Given the description of an element on the screen output the (x, y) to click on. 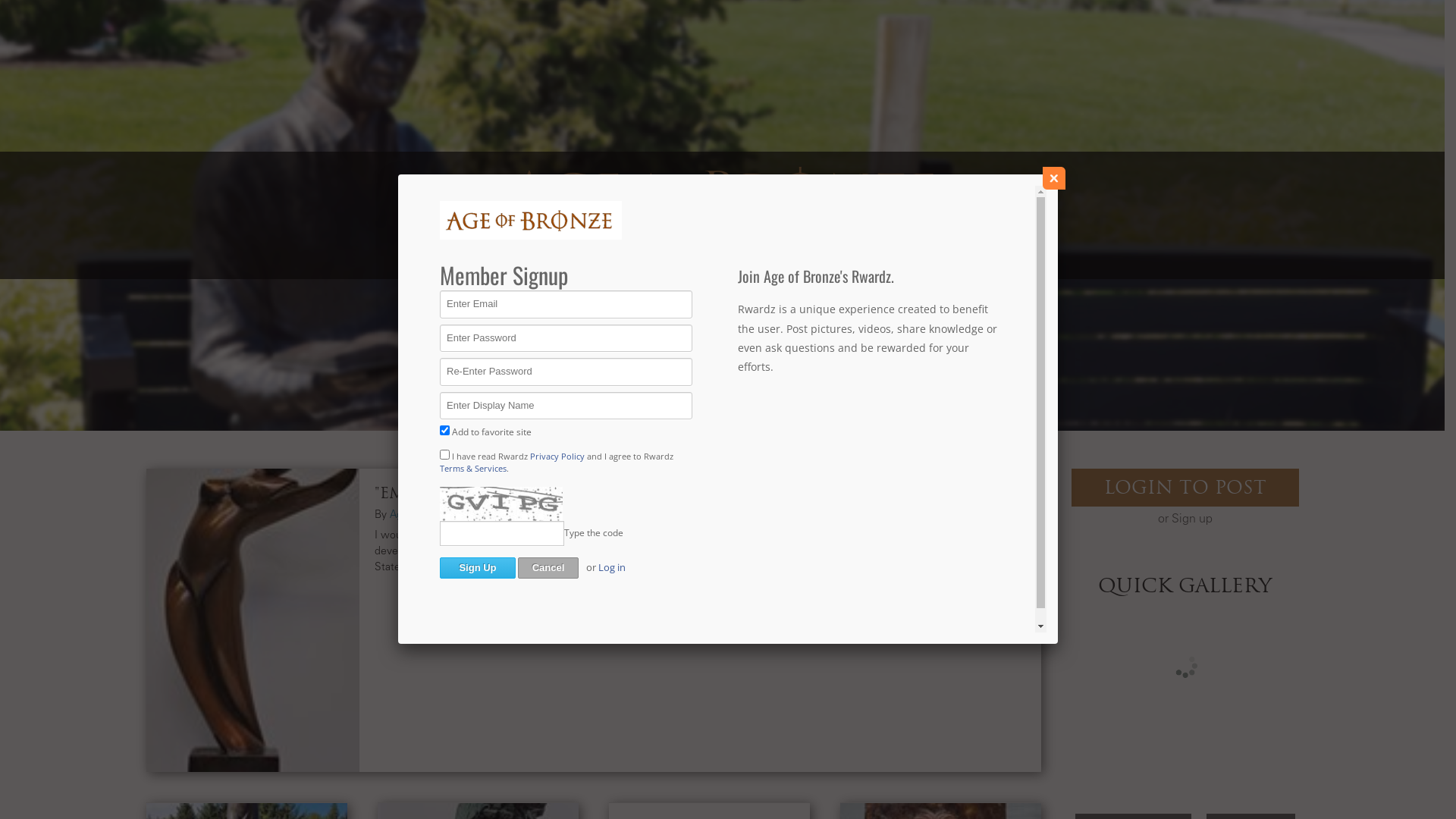
Age of Bronze Element type: text (423, 514)
Services Element type: text (771, 256)
Recent Events Element type: text (660, 256)
Gallery Element type: text (856, 256)
About Element type: text (557, 256)
"EMOTIONAL EXPRESSIVE FORMS" - NEW SERIES!!! Element type: text (577, 492)
LOGIN TO POST Element type: text (1184, 487)
Home Element type: text (487, 256)
Contact Element type: text (943, 256)
Sign up Element type: text (1190, 518)
Sculpture Element type: text (492, 514)
Emotional Expressive Forms - New Series Element type: hover (252, 619)
Close Element type: hover (1053, 177)
